Given the description of an element on the screen output the (x, y) to click on. 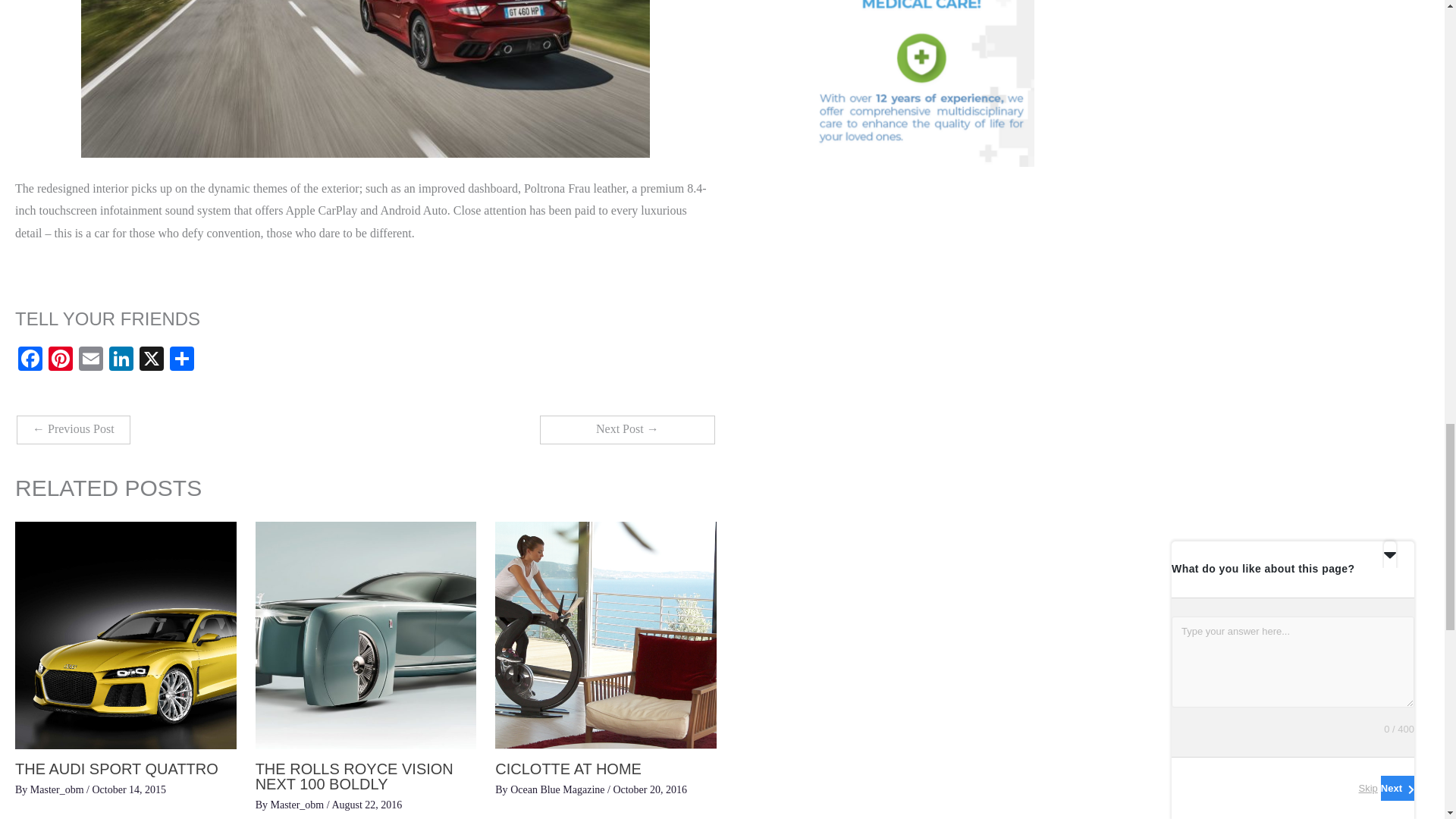
Email (90, 360)
London 2017 Longines Global Champions Tour (73, 429)
The Interview: Charlize Theron (627, 429)
LinkedIn (121, 360)
X (151, 360)
Pinterest (60, 360)
View all posts by Ocean Blue Magazine (559, 789)
Facebook (29, 360)
